Given the description of an element on the screen output the (x, y) to click on. 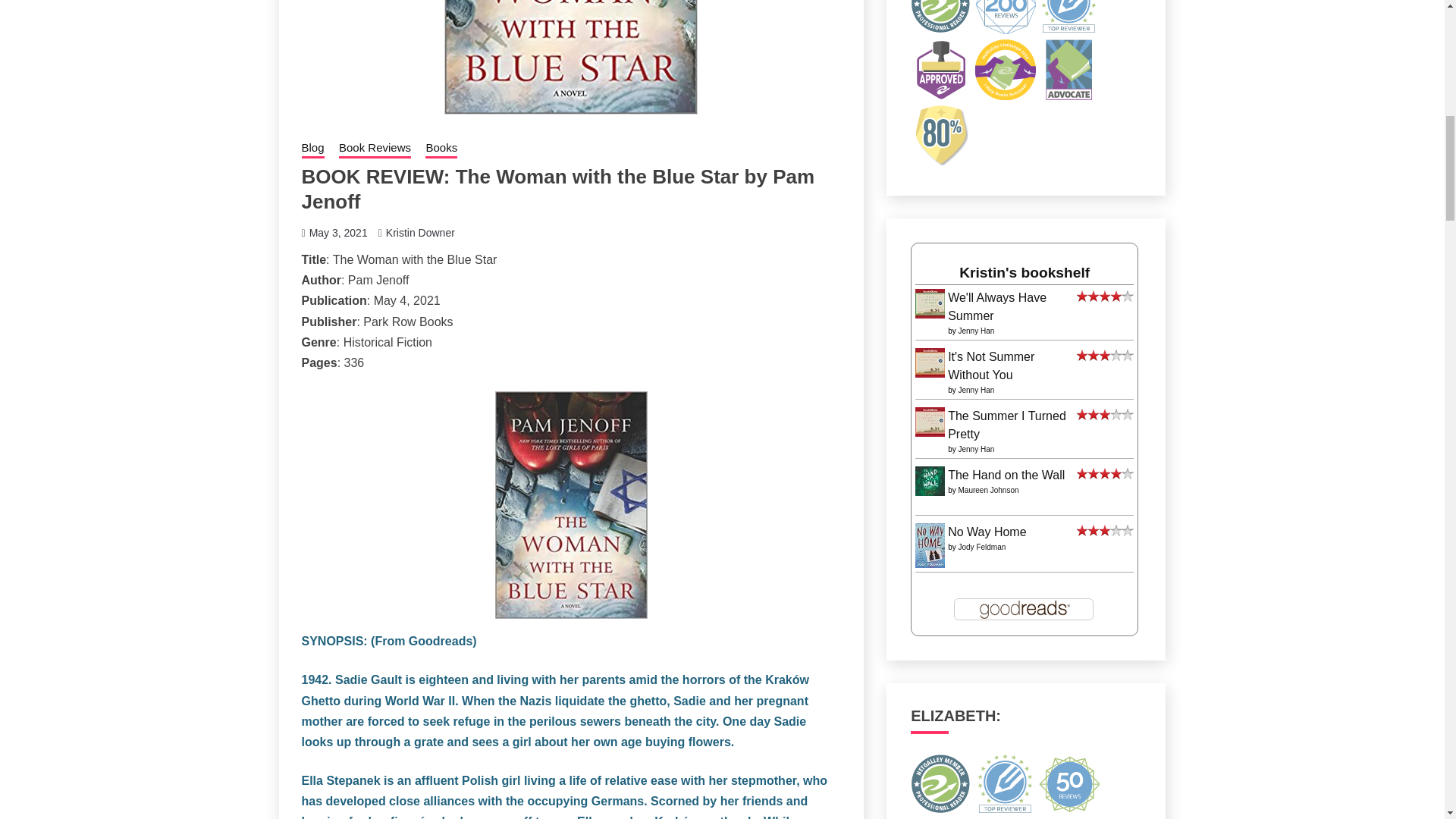
Blog (312, 148)
really liked it (1105, 297)
Books (441, 148)
Frequently Auto-Approved (941, 69)
Reviews Published (1069, 17)
2016 NetGalley Challenge (1005, 69)
2015 Challenge Participant (1069, 69)
Book Reviews (374, 148)
200 Book Reviews (1005, 17)
Professional Reader (941, 17)
Kristin Downer (419, 232)
May 3, 2021 (338, 232)
